Given the description of an element on the screen output the (x, y) to click on. 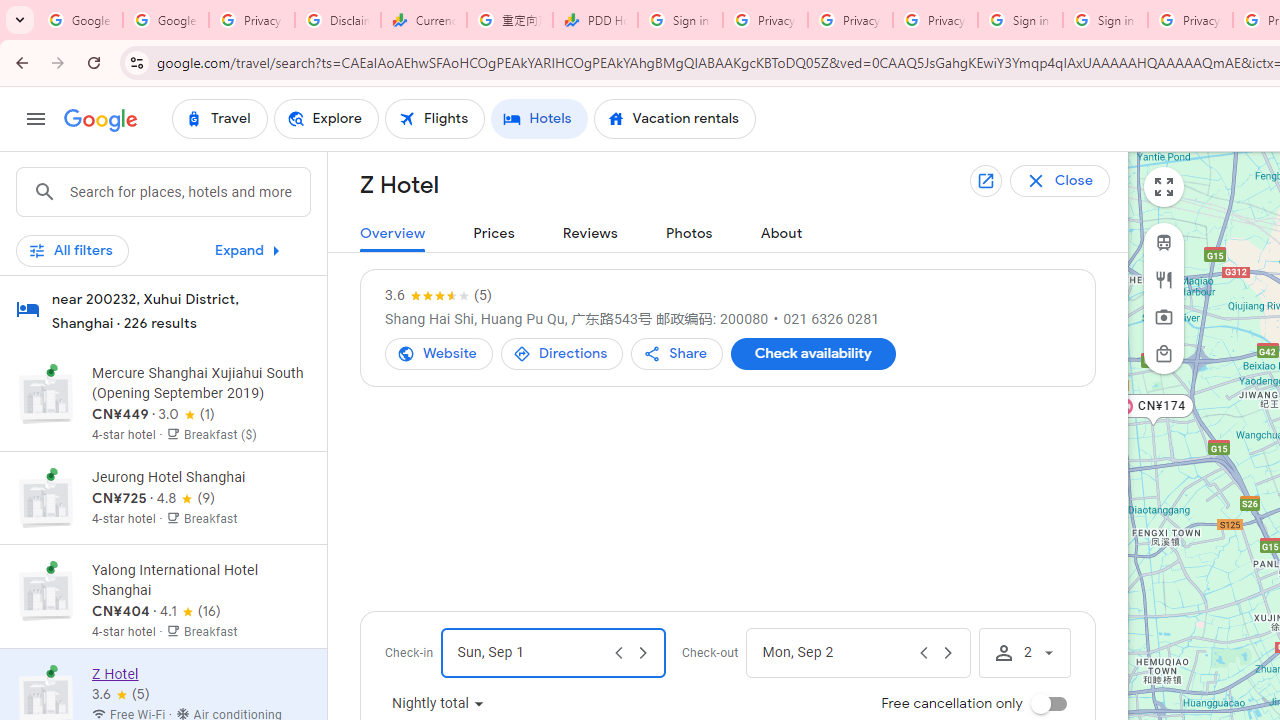
All filters (72, 250)
Back to list of all results (1075, 180)
Explore (325, 118)
Attractions (1163, 317)
Vacation rentals (674, 118)
Sign in - Google Accounts (680, 20)
Travel (219, 118)
Privacy Checkup (850, 20)
Flights (435, 118)
View prices for Yalong International Hotel Shanghai (200, 671)
Directions (562, 353)
3 out of 5 stars from 1 reviews (186, 414)
